Given the description of an element on the screen output the (x, y) to click on. 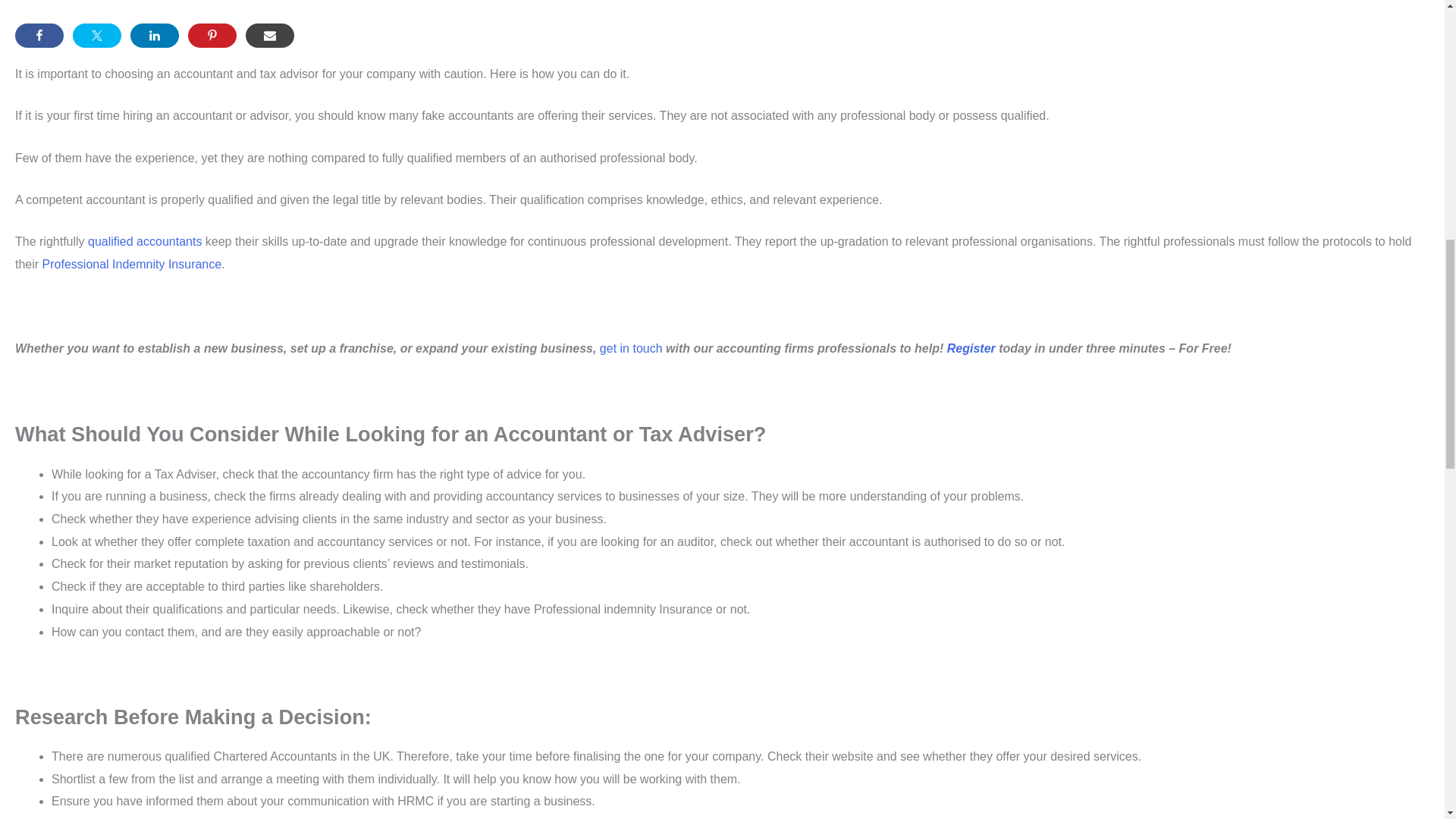
Share on LinkedIn (155, 35)
Share via Email (270, 35)
Register (971, 348)
qualified accountants (144, 241)
Share on Pinterest (211, 35)
Professional Indemnity Insurance (132, 264)
Share on Facebook (39, 35)
Share on Twitter (96, 35)
get in touch (630, 348)
